Given the description of an element on the screen output the (x, y) to click on. 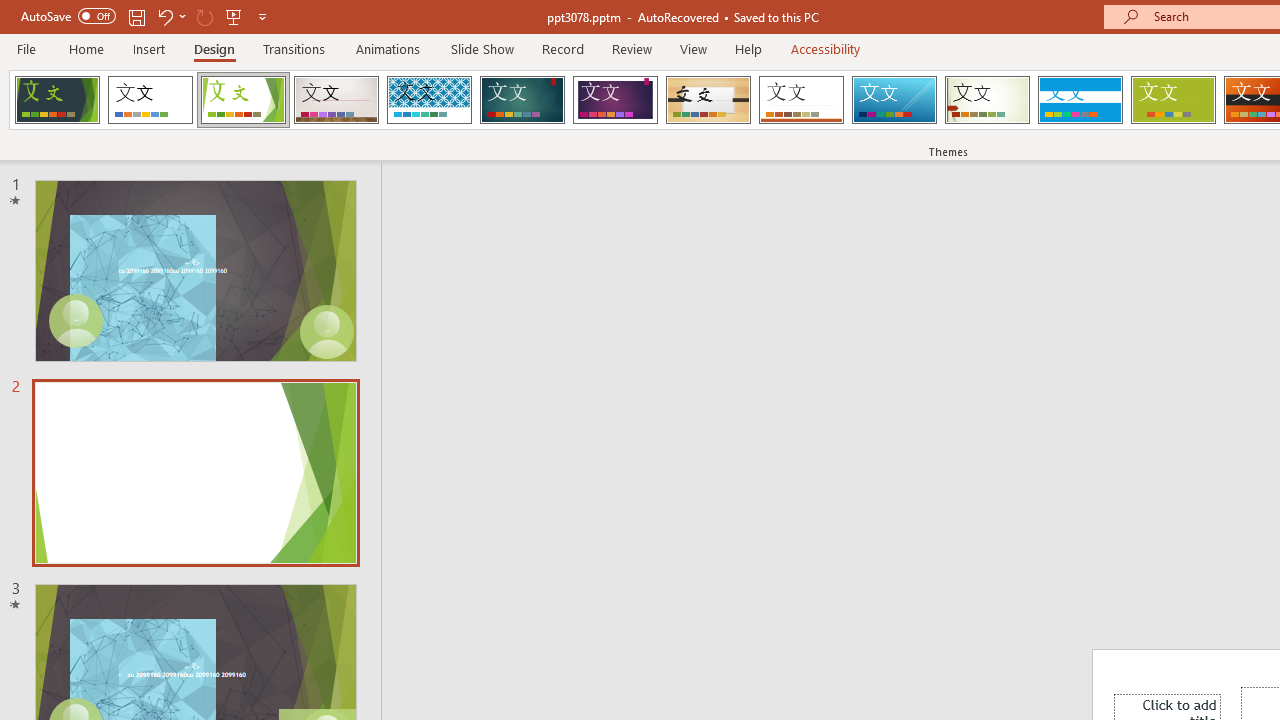
Ion (522, 100)
Retrospect (801, 100)
Dividend (57, 100)
Gallery (336, 100)
Integral (429, 100)
Organic (708, 100)
